Given the description of an element on the screen output the (x, y) to click on. 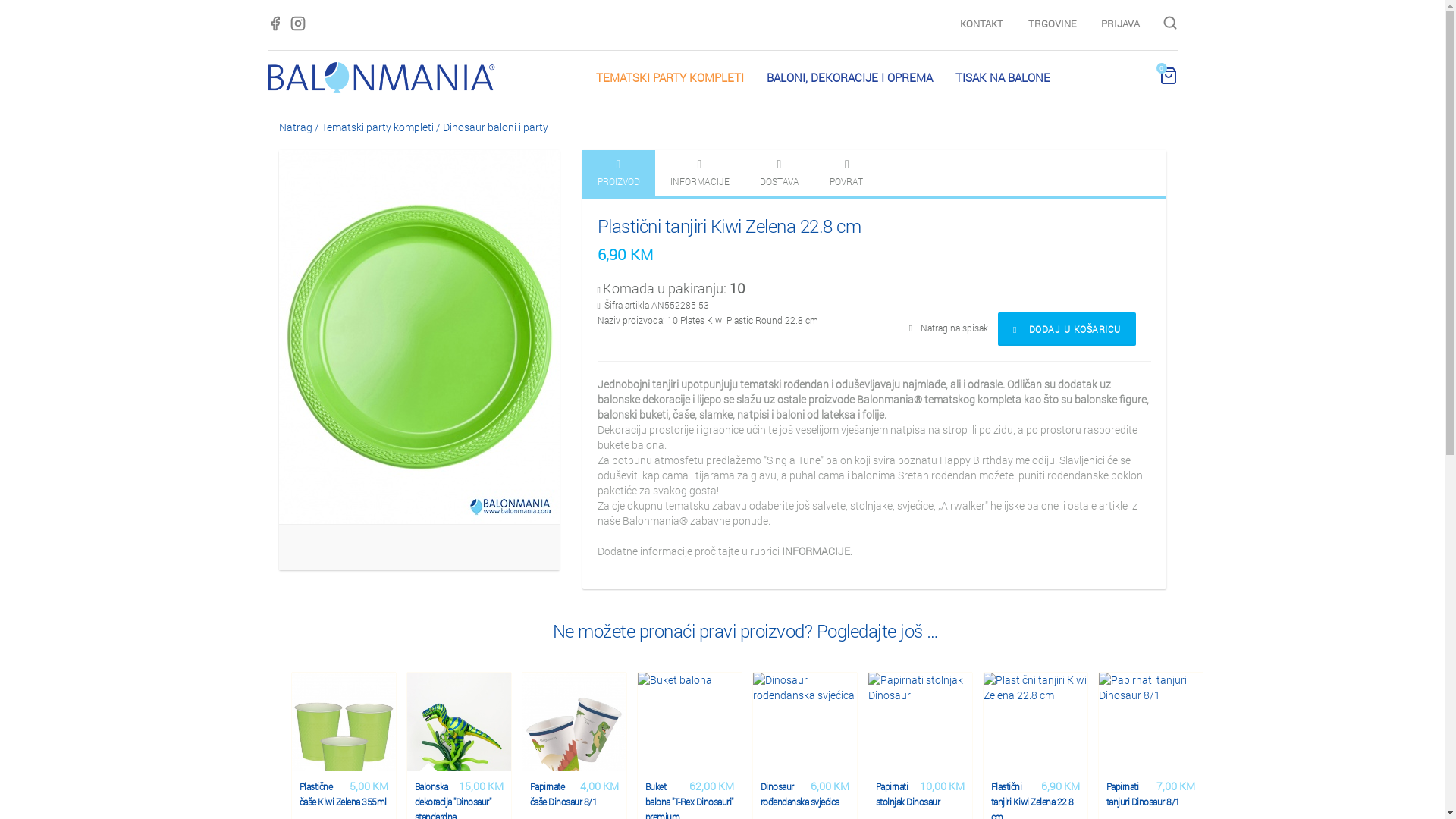
KONTAKT Element type: text (981, 23)
TISAK NA BALONE Element type: text (1002, 76)
Natrag Element type: text (295, 126)
TEMATSKI PARTY KOMPLETI Element type: text (669, 76)
  Natrag na spisak Element type: text (949, 327)
TRGOVINE Element type: text (1052, 23)
POVRATI Element type: text (847, 172)
Dinosaur baloni i party Element type: text (495, 126)
Tematski party kompleti Element type: text (377, 126)
PRIJAVA Element type: text (1120, 23)
INFORMACIJE Element type: text (699, 172)
BALONI, DEKORACIJE I OPREMA Element type: text (848, 76)
PROIZVOD Element type: text (618, 172)
DOSTAVA Element type: text (779, 172)
AN552285-53 Element type: hover (599, 304)
10 Element type: hover (598, 289)
